Given the description of an element on the screen output the (x, y) to click on. 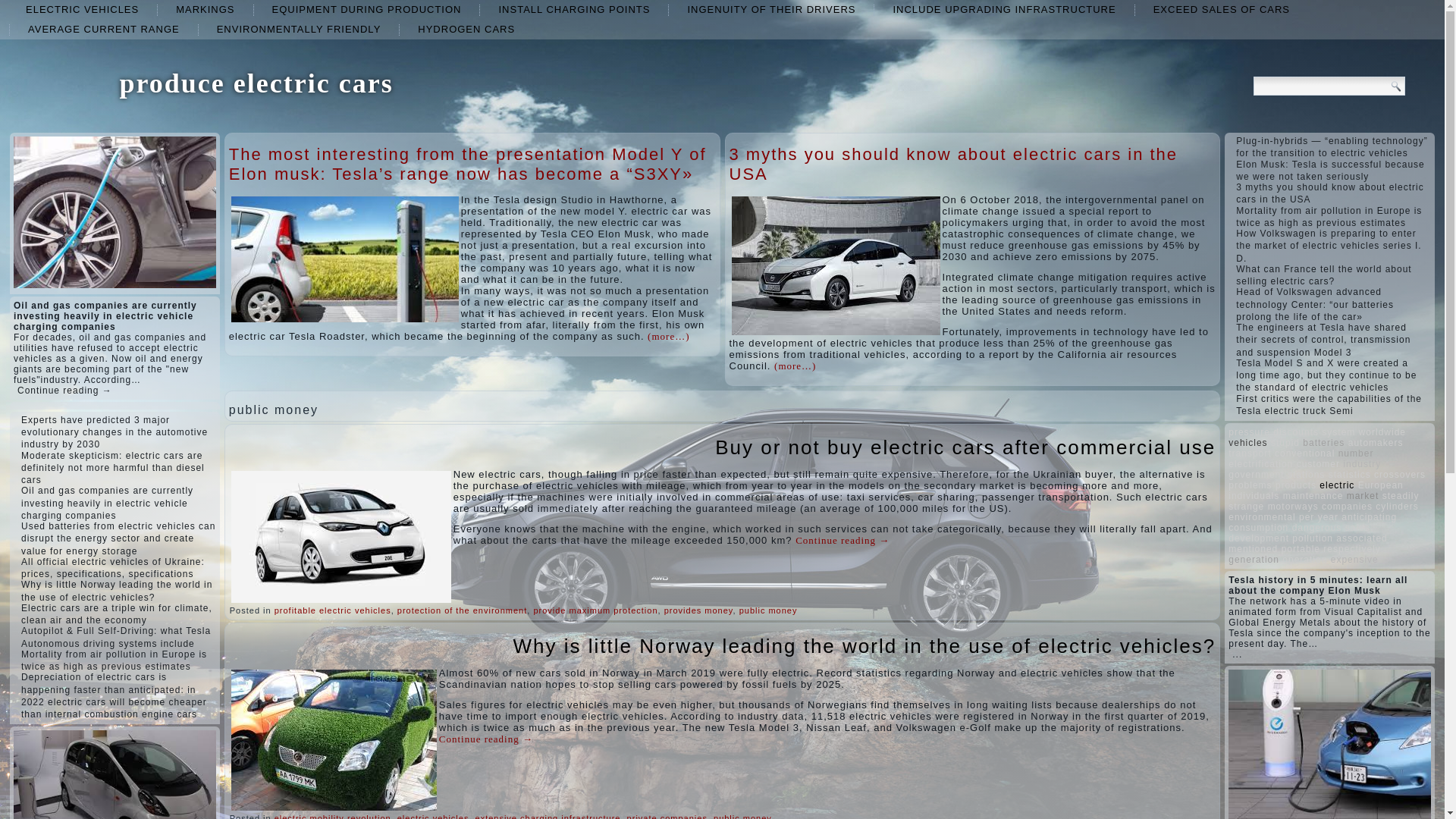
Buy or not buy electric cars after commercial use (964, 446)
include upgrading infrastructure (1004, 9)
public money (768, 610)
INSTALL CHARGING POINTS (573, 9)
produce electric cars (256, 82)
average current range (103, 29)
install charging points (573, 9)
ingenuity of their drivers (770, 9)
INCLUDE UPGRADING INFRASTRUCTURE (1004, 9)
EXCEED SALES OF CARS (1221, 9)
protection of the environment (462, 610)
ENVIRONMENTALLY FRIENDLY (298, 29)
HYDROGEN CARS (466, 29)
